Given the description of an element on the screen output the (x, y) to click on. 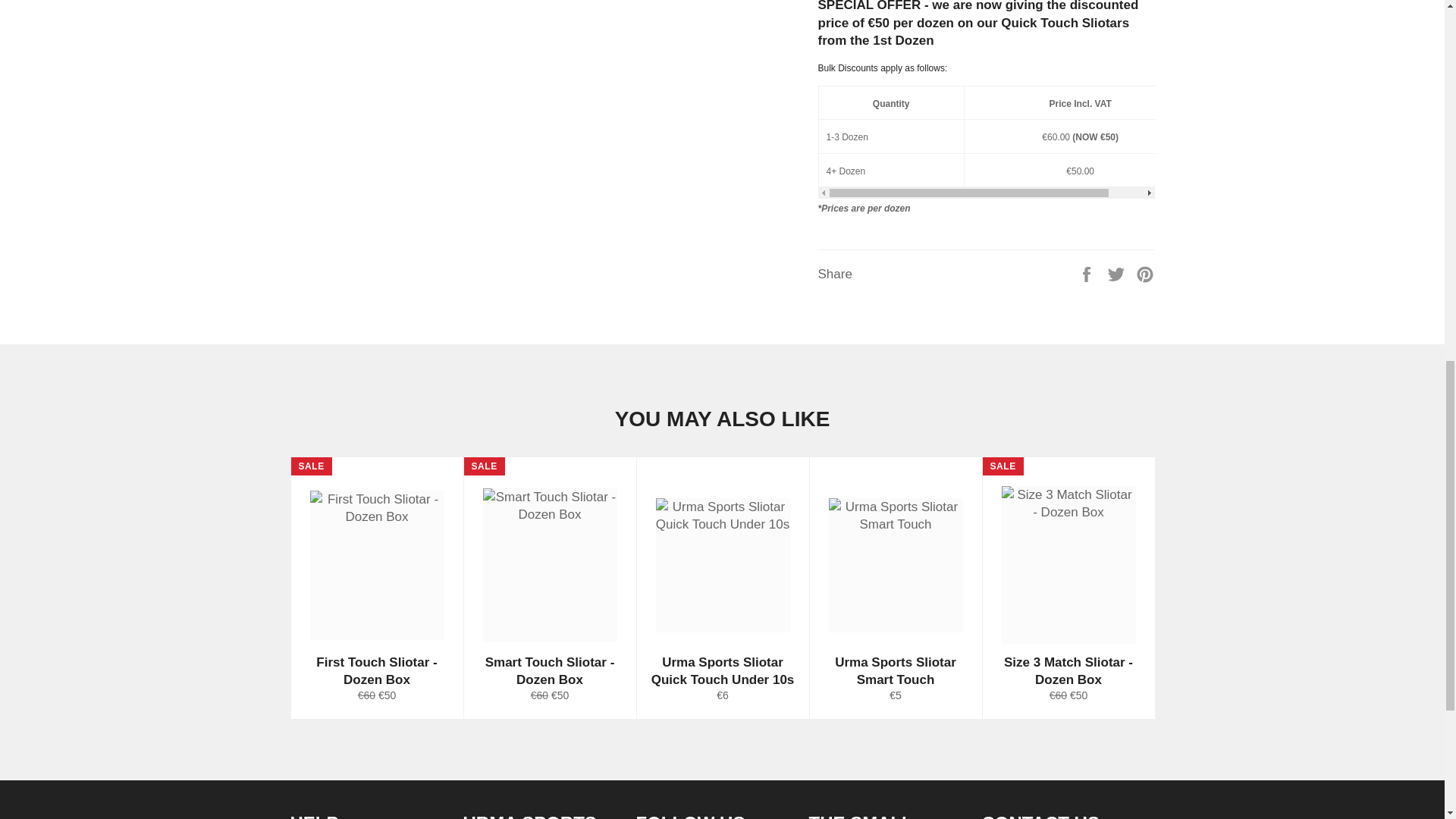
Tweet on Twitter (1117, 273)
Share on Facebook (1088, 273)
Pin on Pinterest (1144, 273)
